Given the description of an element on the screen output the (x, y) to click on. 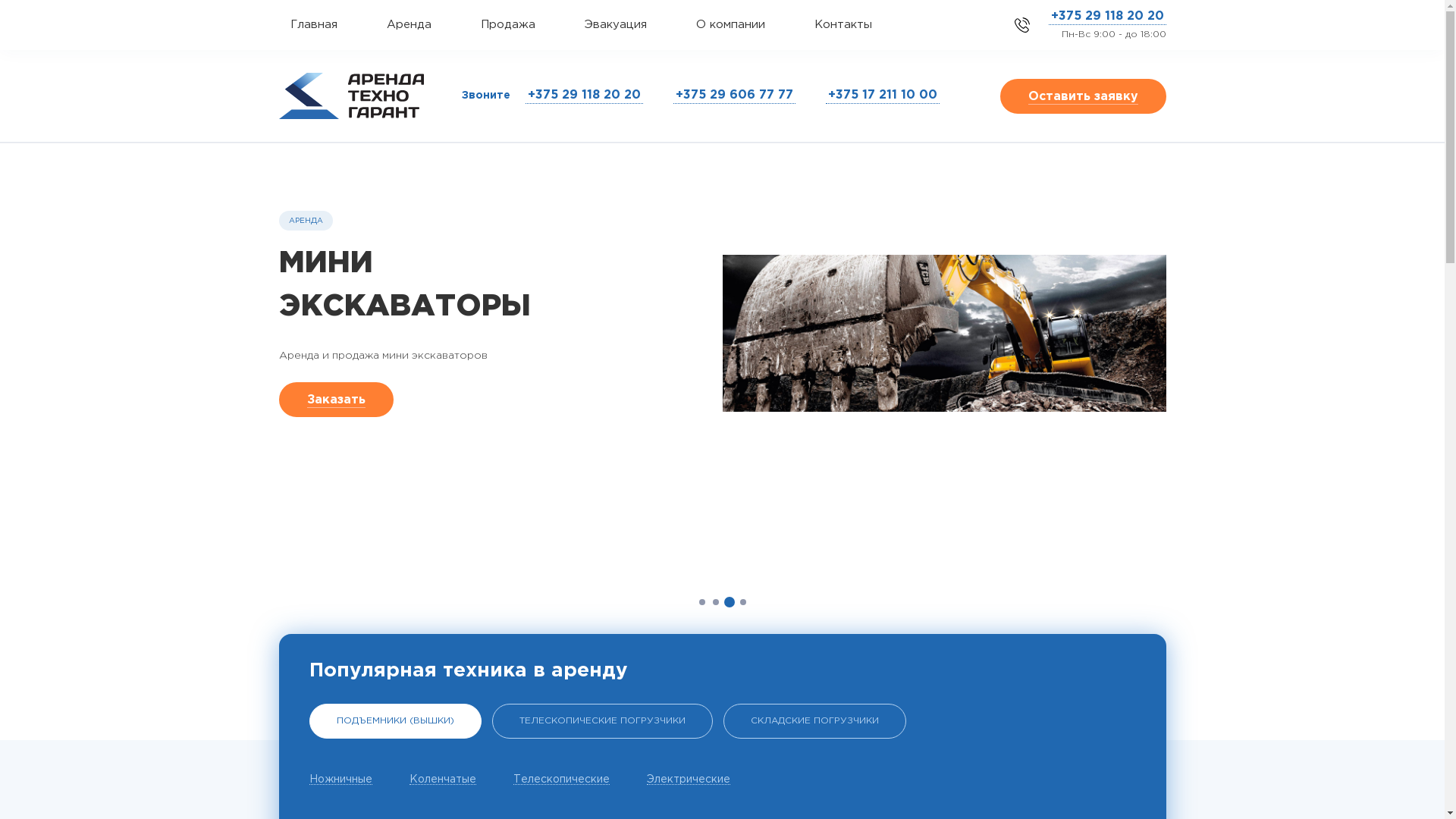
+375 17 211 10 00 Element type: text (881, 95)
+375 29 118 20 20 Element type: text (583, 95)
2 Element type: text (715, 602)
3 Element type: text (729, 602)
+375 29 118 20 20 Element type: text (1106, 16)
+375 29 606 77 77 Element type: text (734, 95)
4 Element type: text (742, 601)
1 Element type: text (702, 602)
